Given the description of an element on the screen output the (x, y) to click on. 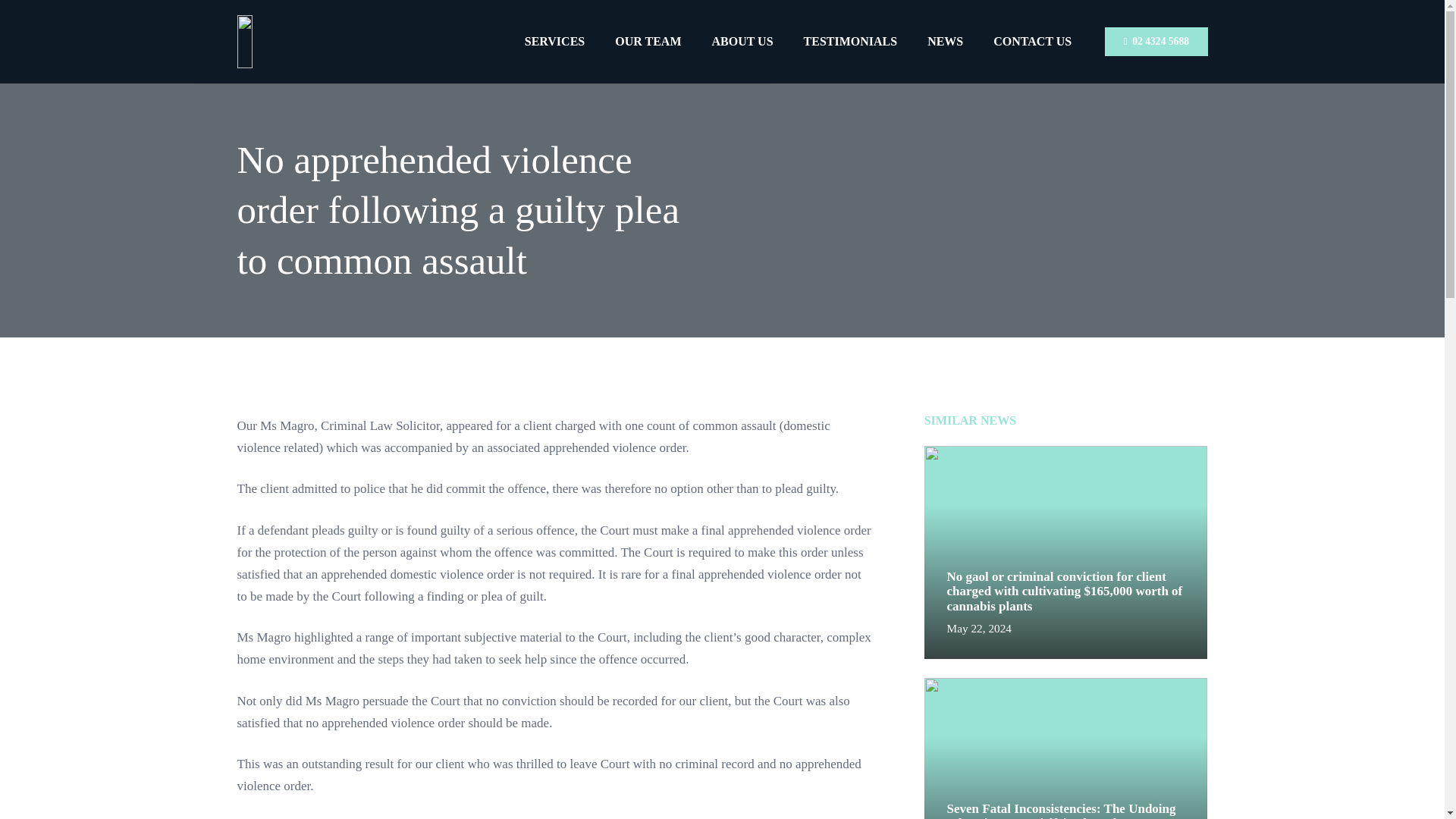
ABOUT US (741, 41)
OUR TEAM (647, 41)
TESTIMONIALS (850, 41)
NEWS (945, 41)
CONTACT US (1032, 41)
02 4324 5688 (1156, 41)
SERVICES (554, 41)
